Given the description of an element on the screen output the (x, y) to click on. 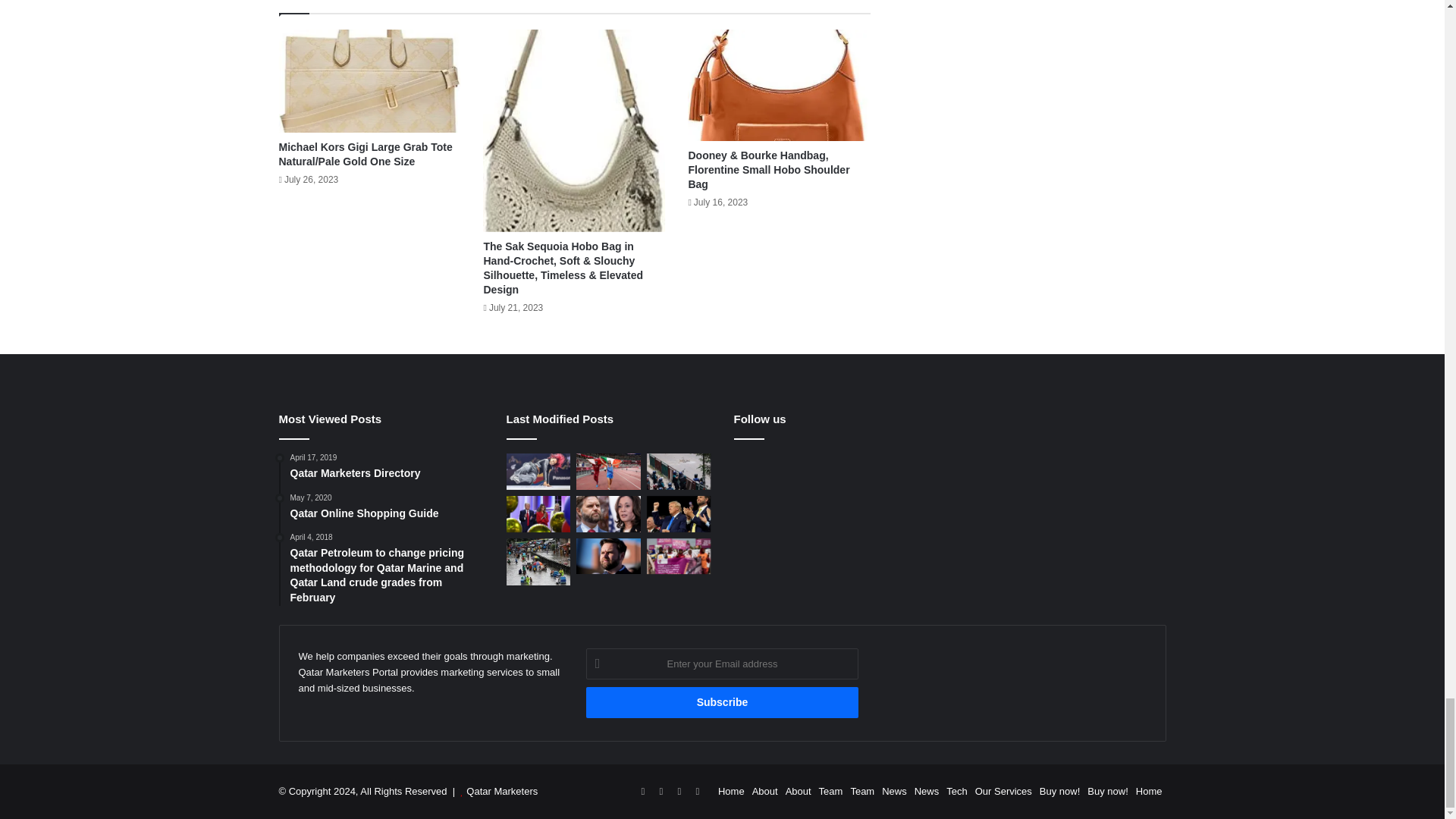
Subscribe (722, 702)
